Given the description of an element on the screen output the (x, y) to click on. 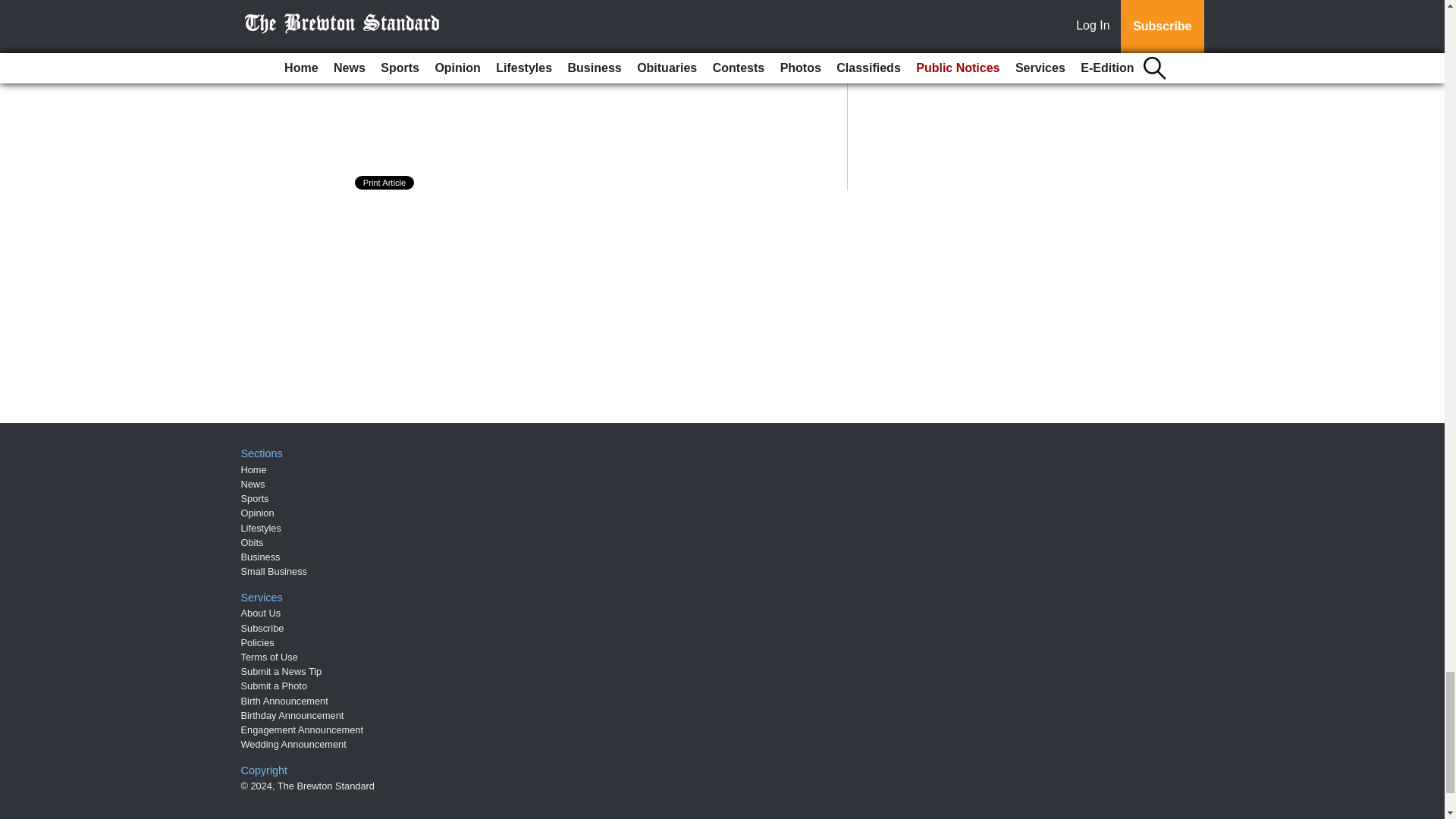
Fox bite in Atmore prompts ADPH warning (498, 59)
Fox bite in Atmore prompts ADPH warning (498, 59)
